Given the description of an element on the screen output the (x, y) to click on. 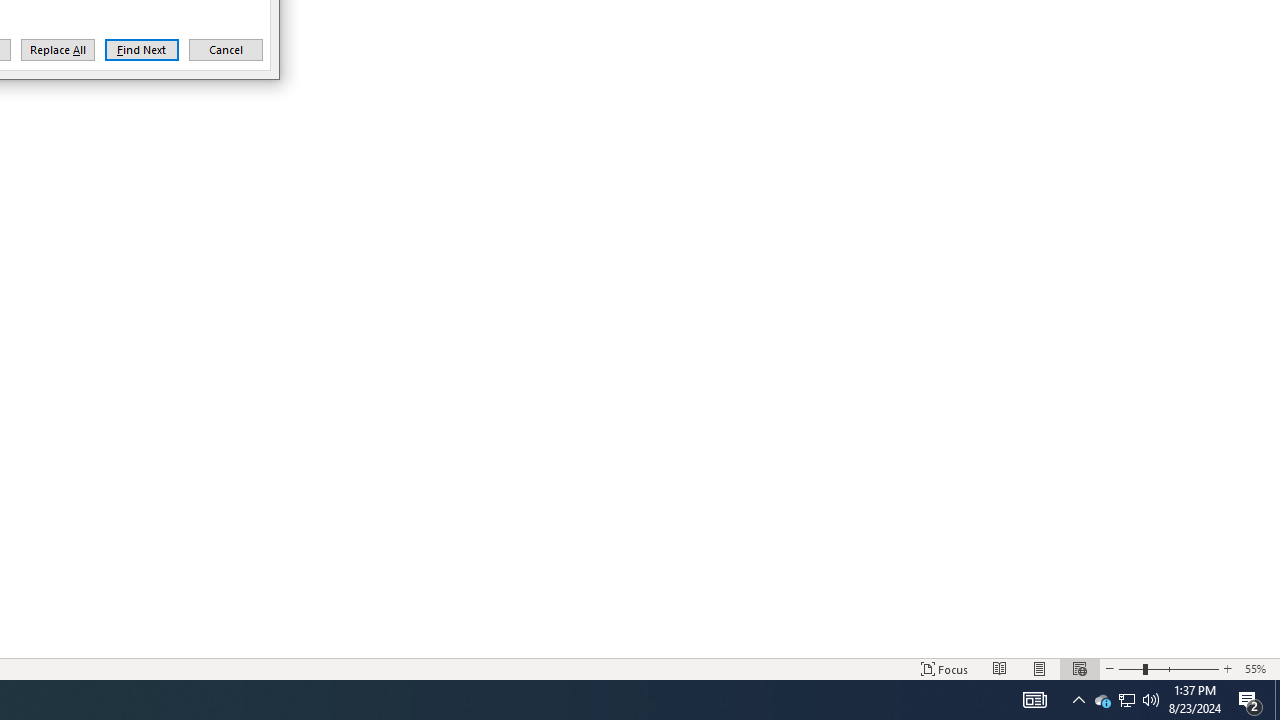
User Promoted Notification Area (1126, 699)
Q2790: 100% (1151, 699)
